Given the description of an element on the screen output the (x, y) to click on. 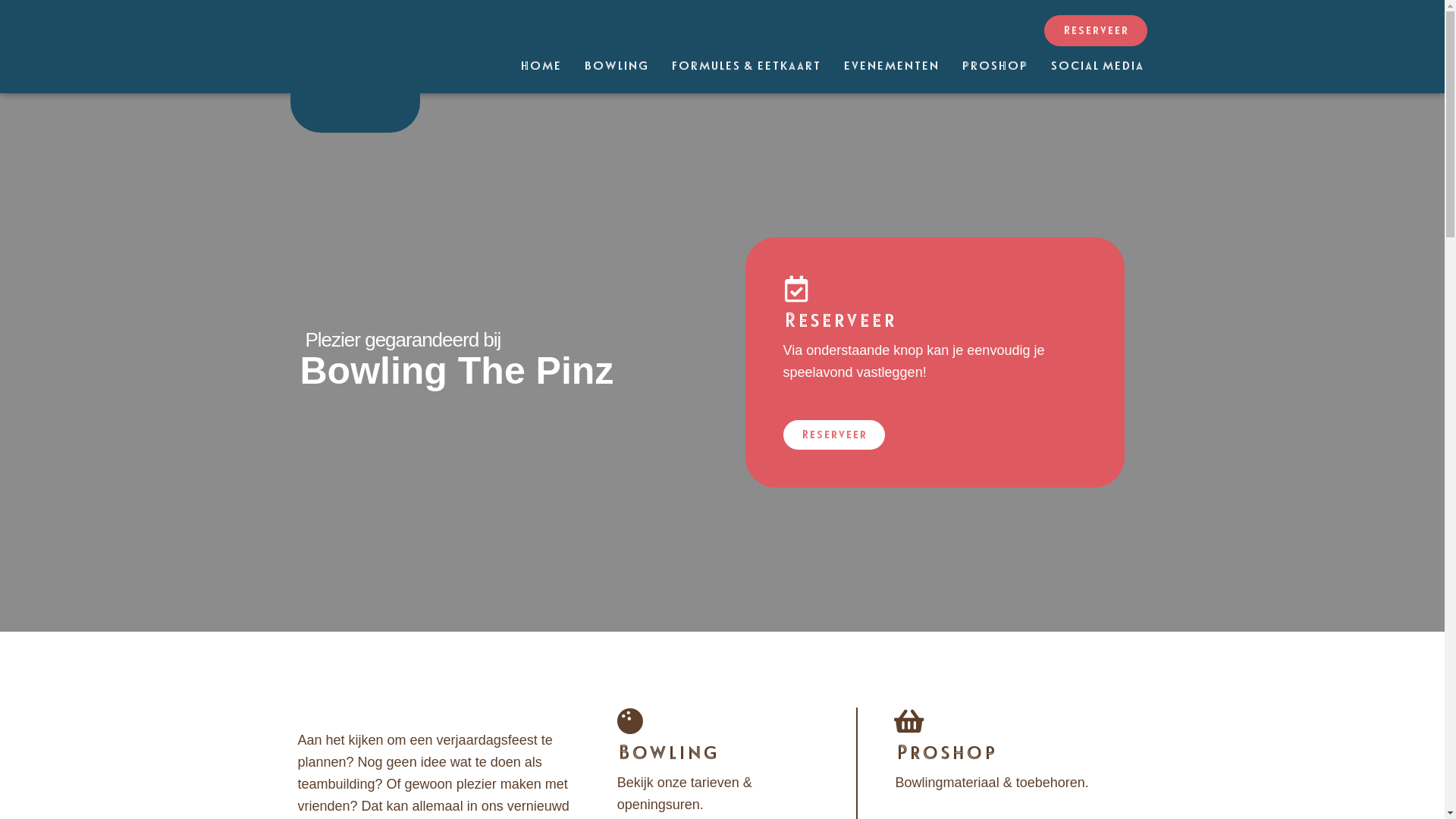
FORMULES & EETKAART Element type: text (745, 65)
PROSHOP Element type: text (993, 65)
SOCIAL MEDIA Element type: text (1096, 65)
BOWLING Element type: text (615, 65)
EVENEMENTEN Element type: text (889, 65)
HOME Element type: text (539, 65)
Reserveer Element type: text (1094, 30)
Reserveer Element type: text (833, 434)
